Given the description of an element on the screen output the (x, y) to click on. 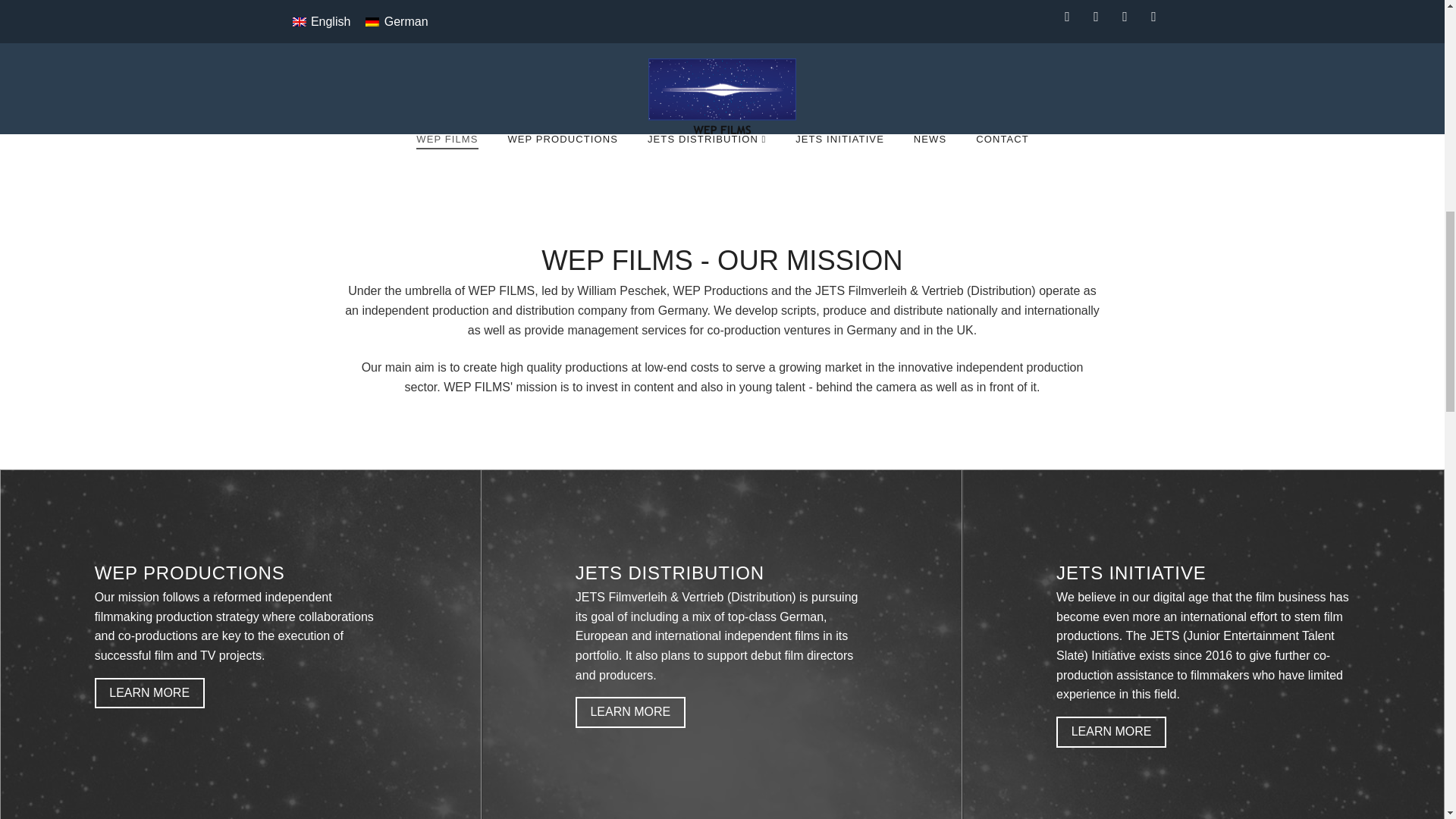
LEARN MORE (149, 693)
Twitter (1096, 16)
LEARN MORE (1111, 731)
English (321, 21)
LEARN MORE (630, 712)
German (396, 21)
WEP FILMS (446, 168)
WEP PRODUCTIONS (561, 168)
JETS INITIATIVE (839, 168)
JETS DISTRIBUTION (705, 168)
